Given the description of an element on the screen output the (x, y) to click on. 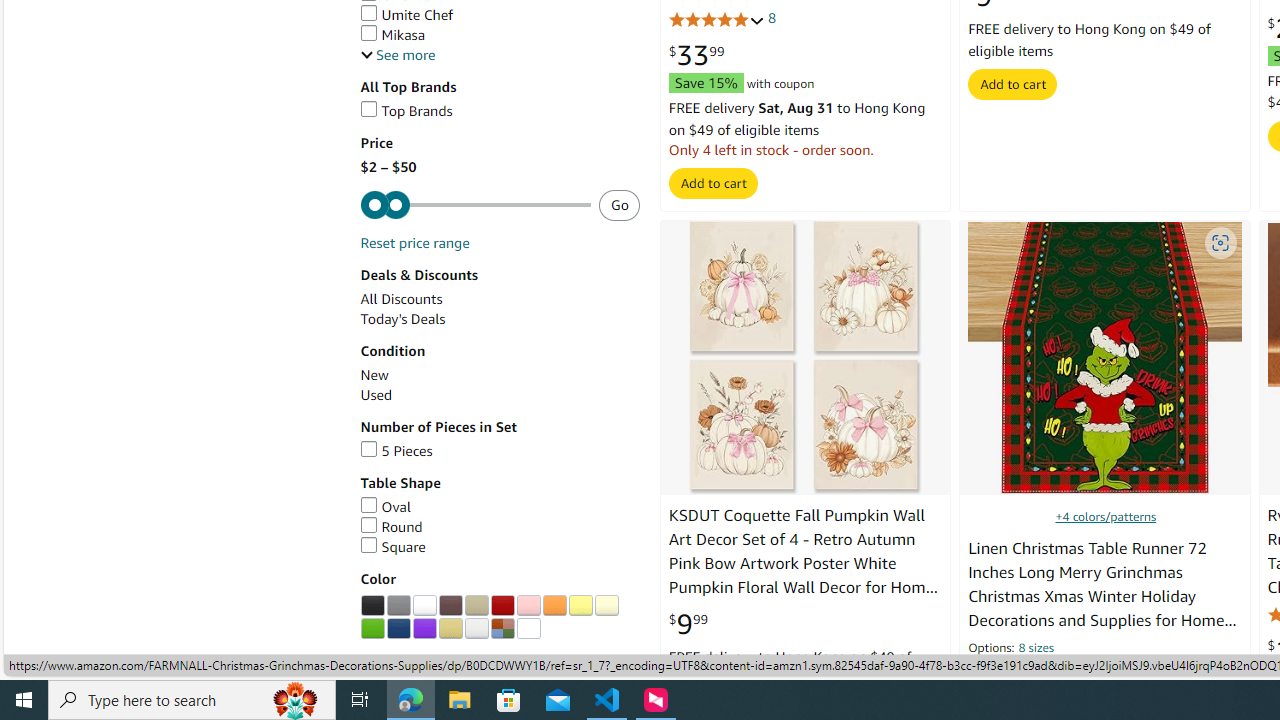
AutomationID: p_n_feature_twenty_browse-bin/3254113011 (502, 628)
5 Pieces (395, 450)
New (374, 375)
AutomationID: p_n_feature_twenty_browse-bin/3254114011 (528, 628)
Grey (398, 605)
Round (499, 527)
8 (772, 18)
Blue (398, 628)
Minimum (475, 205)
AutomationID: p_n_feature_twenty_browse-bin/3254098011 (372, 605)
4.7 out of 5 stars (1015, 675)
Brown (450, 605)
